Given the description of an element on the screen output the (x, y) to click on. 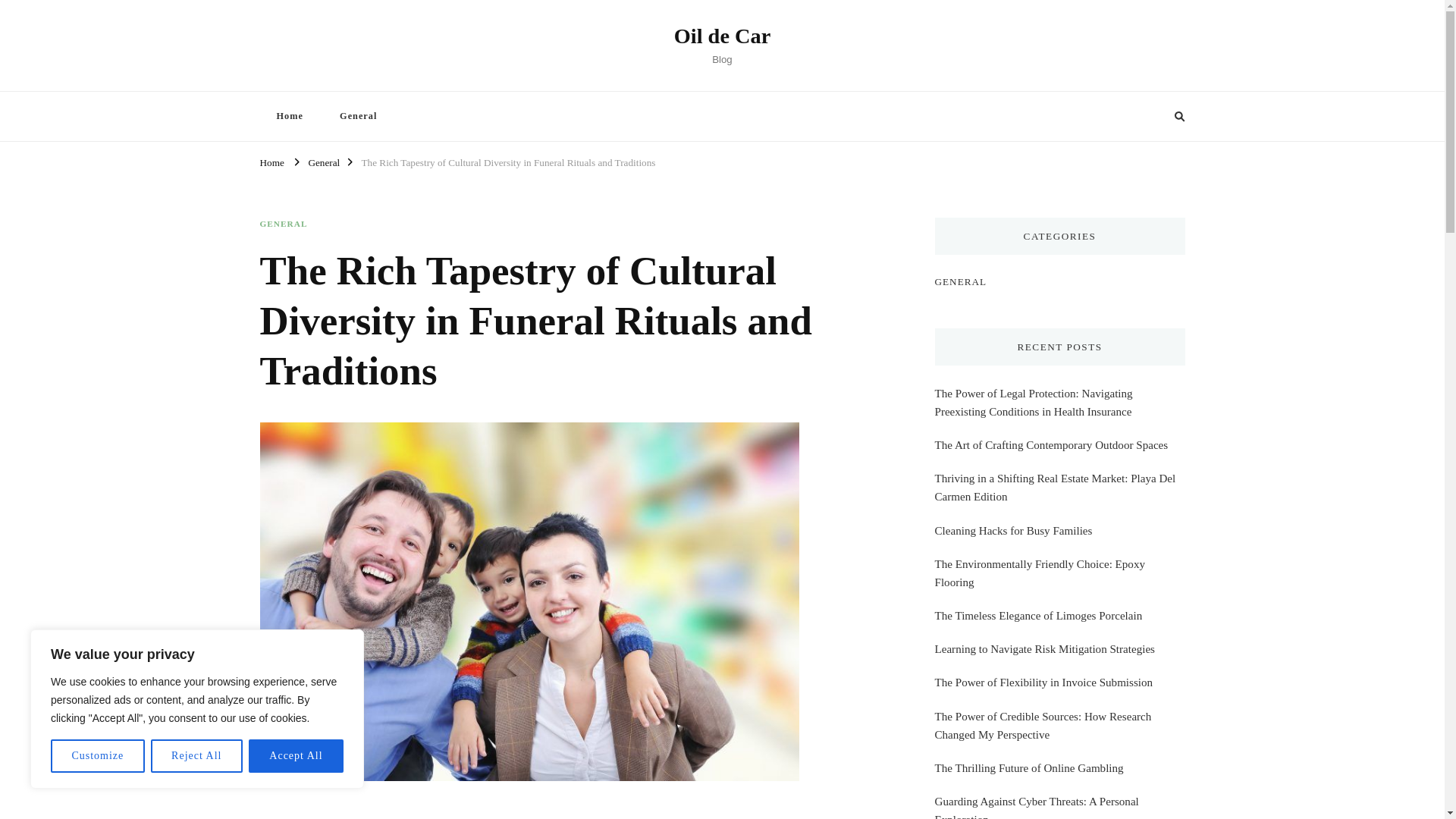
General (358, 115)
GENERAL (283, 223)
General (323, 161)
Oil de Car (722, 35)
Reject All (197, 756)
Customize (97, 756)
Accept All (295, 756)
Home (271, 161)
Home (288, 115)
